Given the description of an element on the screen output the (x, y) to click on. 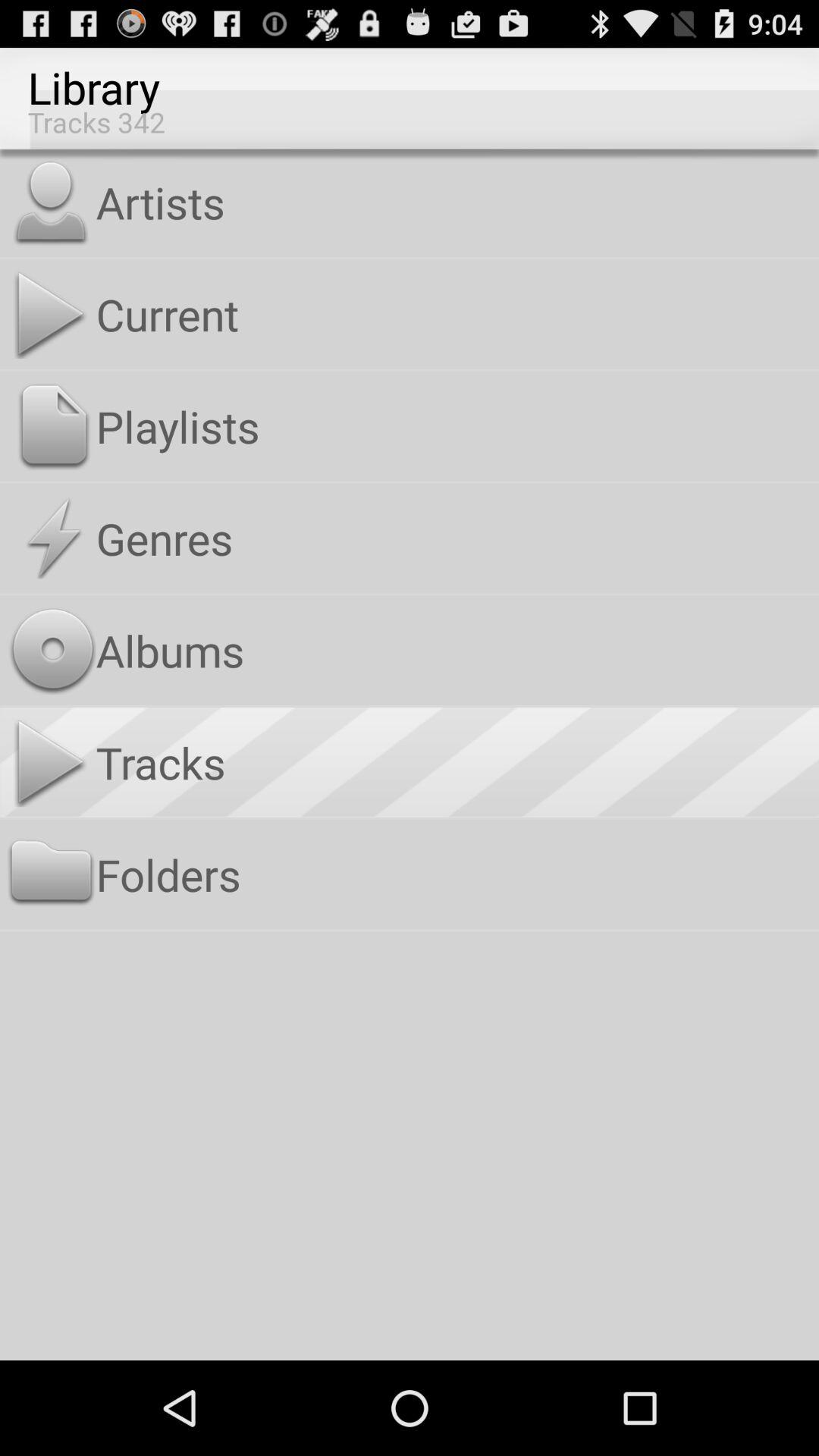
jump to the albums app (454, 650)
